Given the description of an element on the screen output the (x, y) to click on. 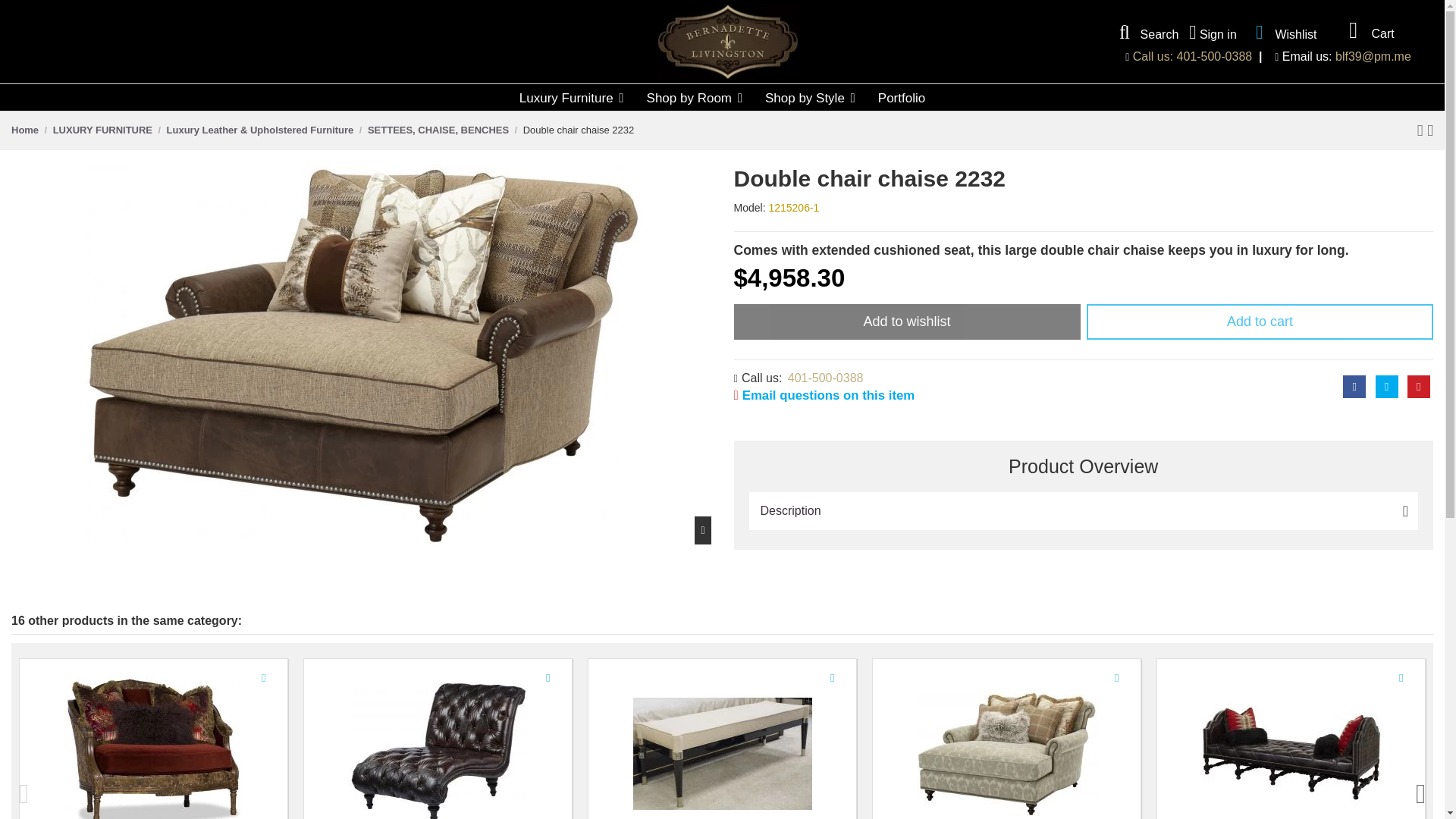
Tweet (1386, 386)
Wishlist (1282, 32)
Call us: 401-500-0388 (1192, 56)
Sign in (1212, 32)
Search (1144, 32)
Cart (1366, 29)
Share (1353, 386)
Luxury Furniture (571, 97)
Pinterest (1418, 386)
